Given the description of an element on the screen output the (x, y) to click on. 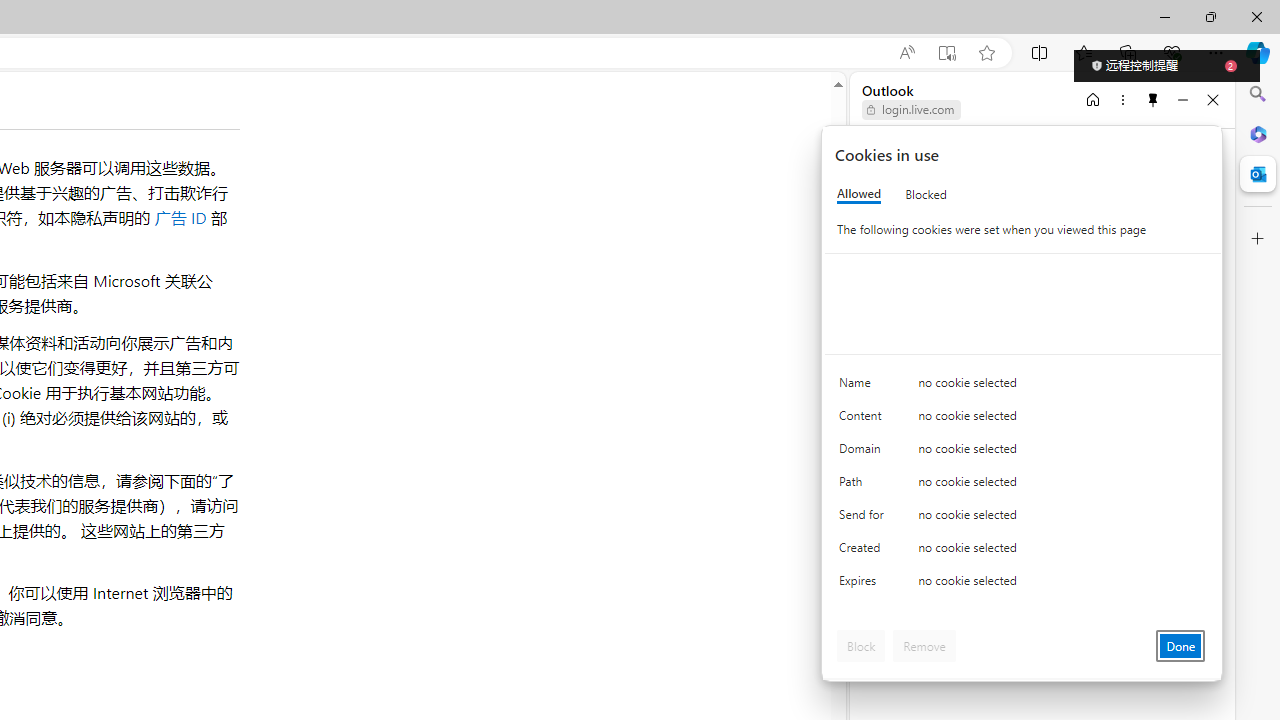
no cookie selected (1062, 585)
Blocked (925, 193)
Class: c0153 c0157 (1023, 584)
Done (1179, 645)
Remove (924, 645)
Send for (864, 518)
Created (864, 552)
Expires (864, 585)
Class: c0153 c0157 c0154 (1023, 386)
Block (861, 645)
Allowed (859, 193)
Path (864, 485)
Domain (864, 452)
Content (864, 420)
Name (864, 387)
